Given the description of an element on the screen output the (x, y) to click on. 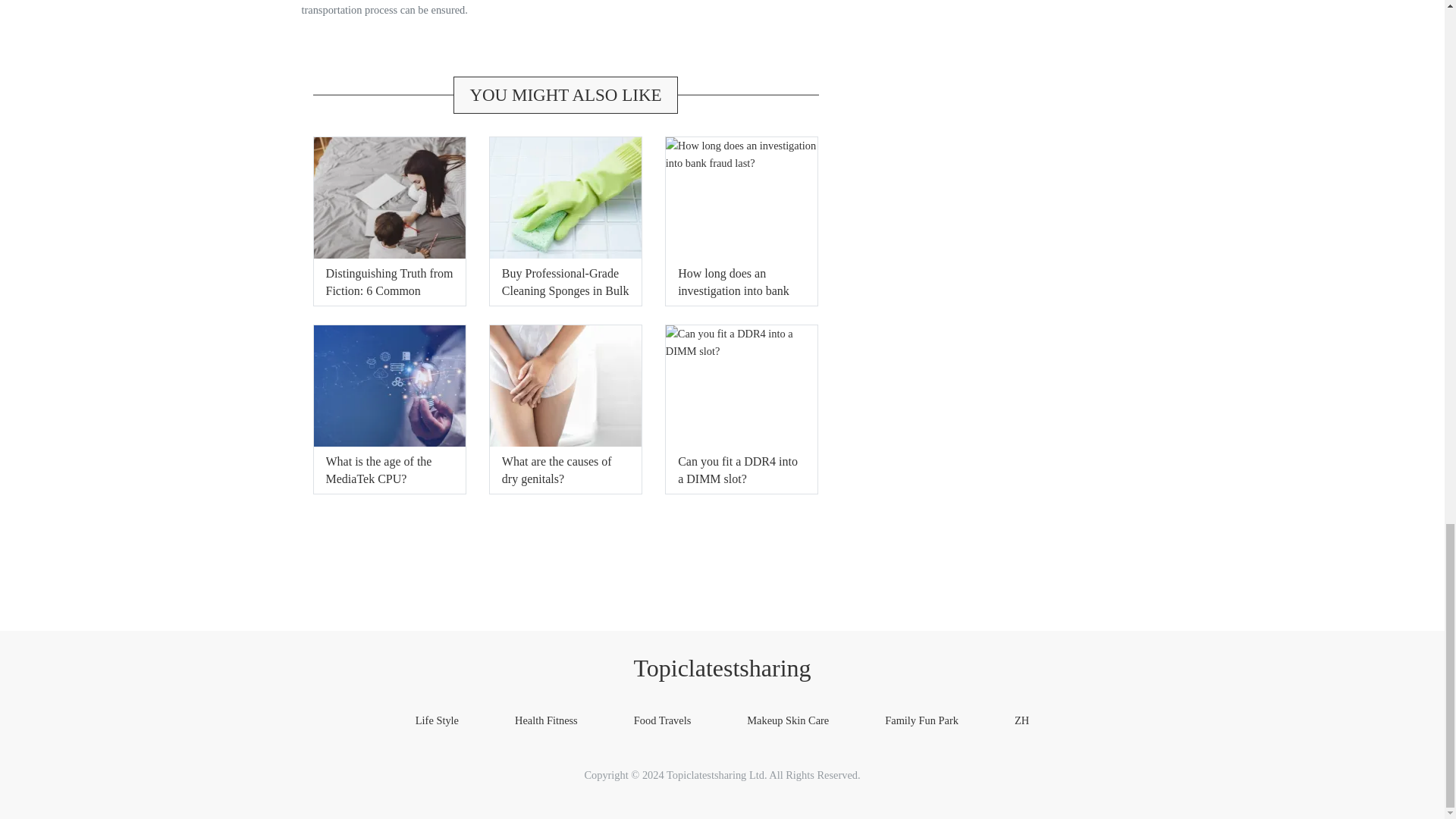
Distinguishing Truth from Fiction: 6 Common Sexuality Myths (389, 290)
How long does an investigation into bank fraud last? (733, 290)
Can you fit a DDR4 into a DIMM slot? (737, 470)
What is the age of the MediaTek CPU? (379, 470)
What are the causes of dry genitals? (556, 470)
